Given the description of an element on the screen output the (x, y) to click on. 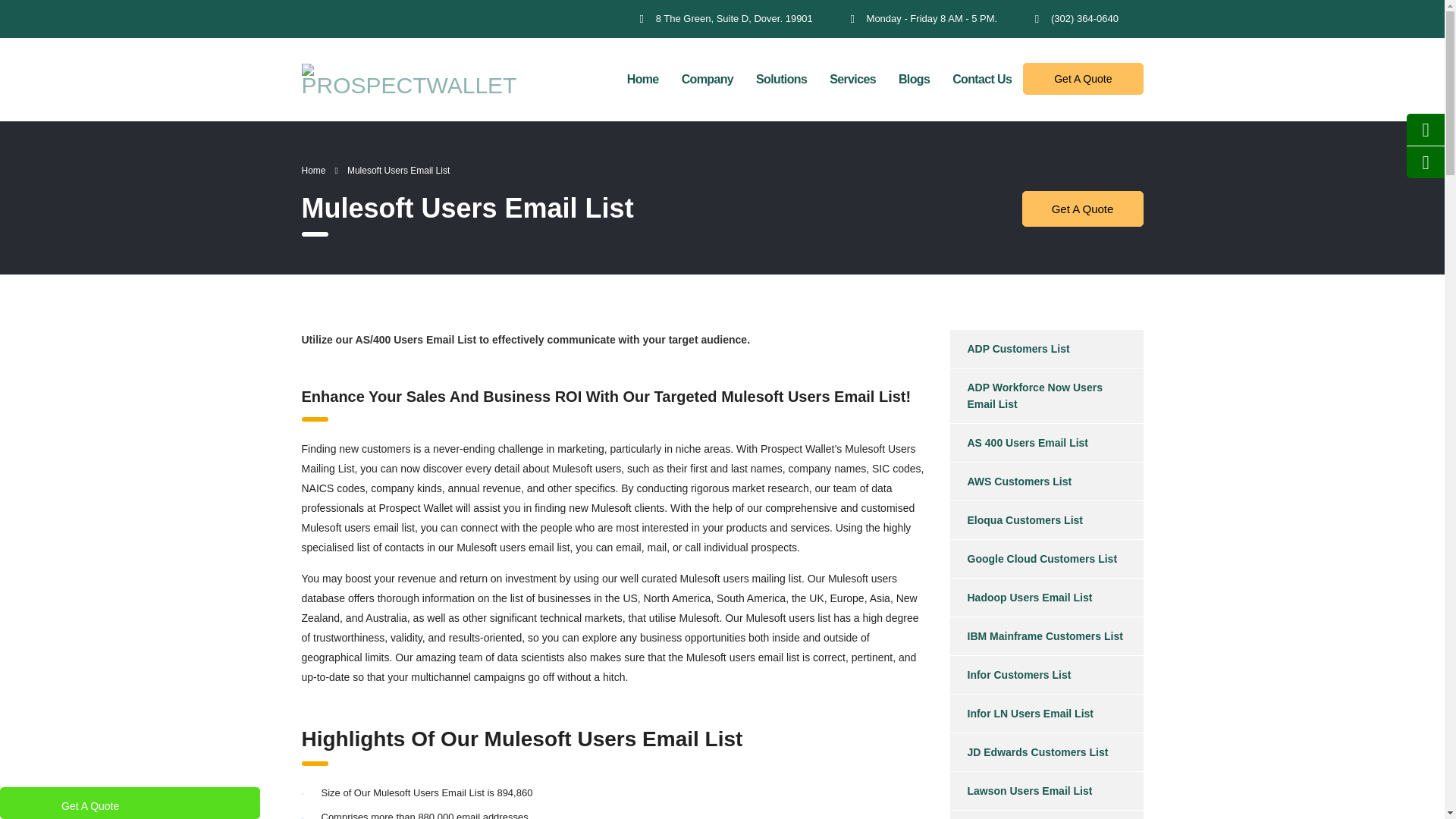
Company (706, 79)
Get A Quote (1082, 79)
Home (642, 79)
Solutions (781, 79)
Go to ProspectWallet. (313, 170)
